Given the description of an element on the screen output the (x, y) to click on. 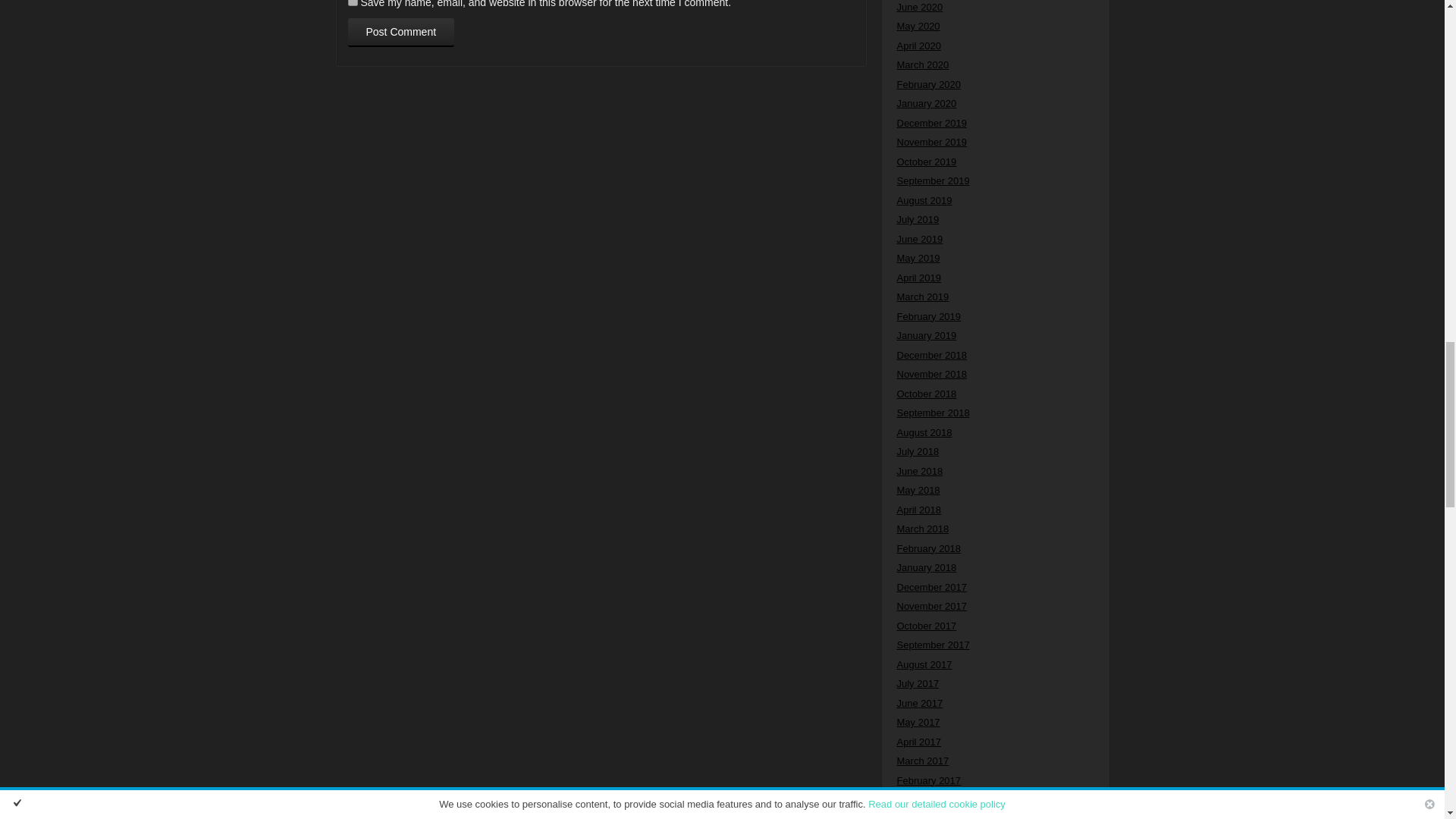
yes (351, 2)
Post Comment (400, 32)
Subscribe me! (1027, 292)
